Given the description of an element on the screen output the (x, y) to click on. 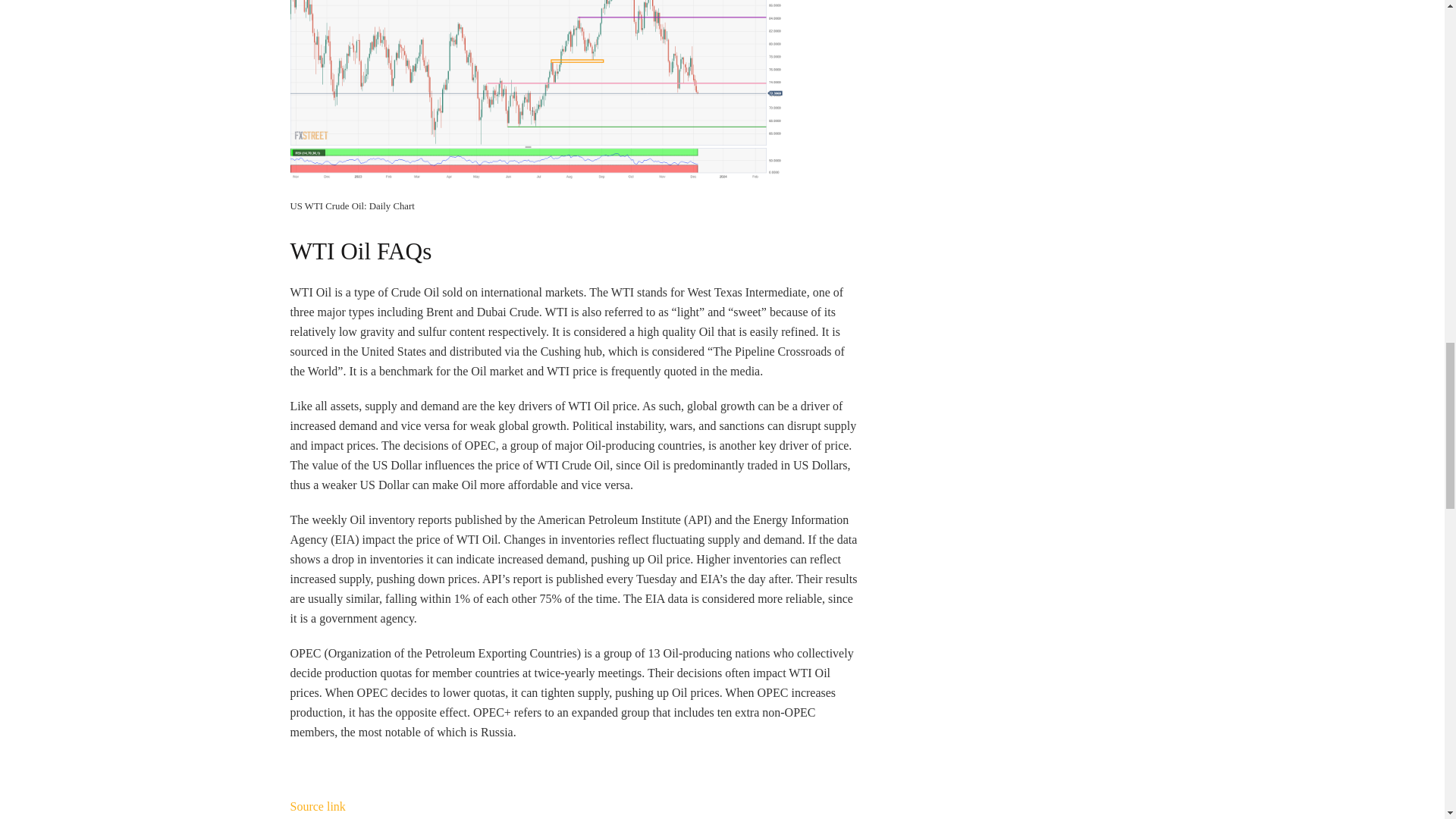
Source link (317, 806)
